Given the description of an element on the screen output the (x, y) to click on. 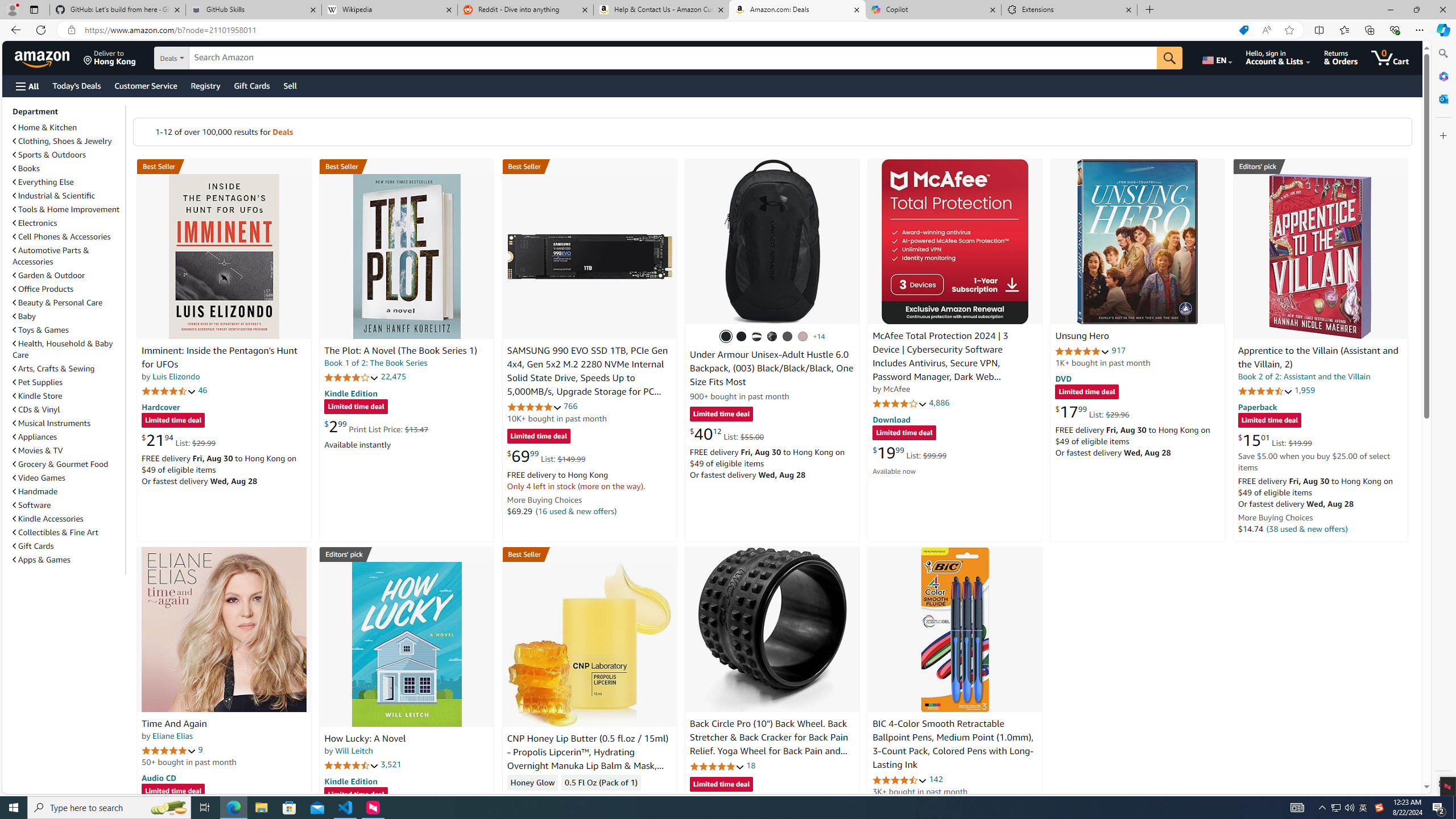
Musical Instruments (67, 423)
Health, Household & Baby Care (63, 349)
Unsung Hero (1137, 241)
Imminent: Inside the Pentagon's Hunt for UFOs (223, 256)
Search in (210, 58)
CDs & Vinyl (36, 409)
Clothing, Shoes & Jewelry (62, 140)
Tools & Home Improvement (66, 208)
Kindle Accessories (67, 518)
Wikipedia (390, 9)
Kindle Edition (350, 780)
Arts, Crafts & Sewing (67, 368)
Home & Kitchen (67, 127)
